Given the description of an element on the screen output the (x, y) to click on. 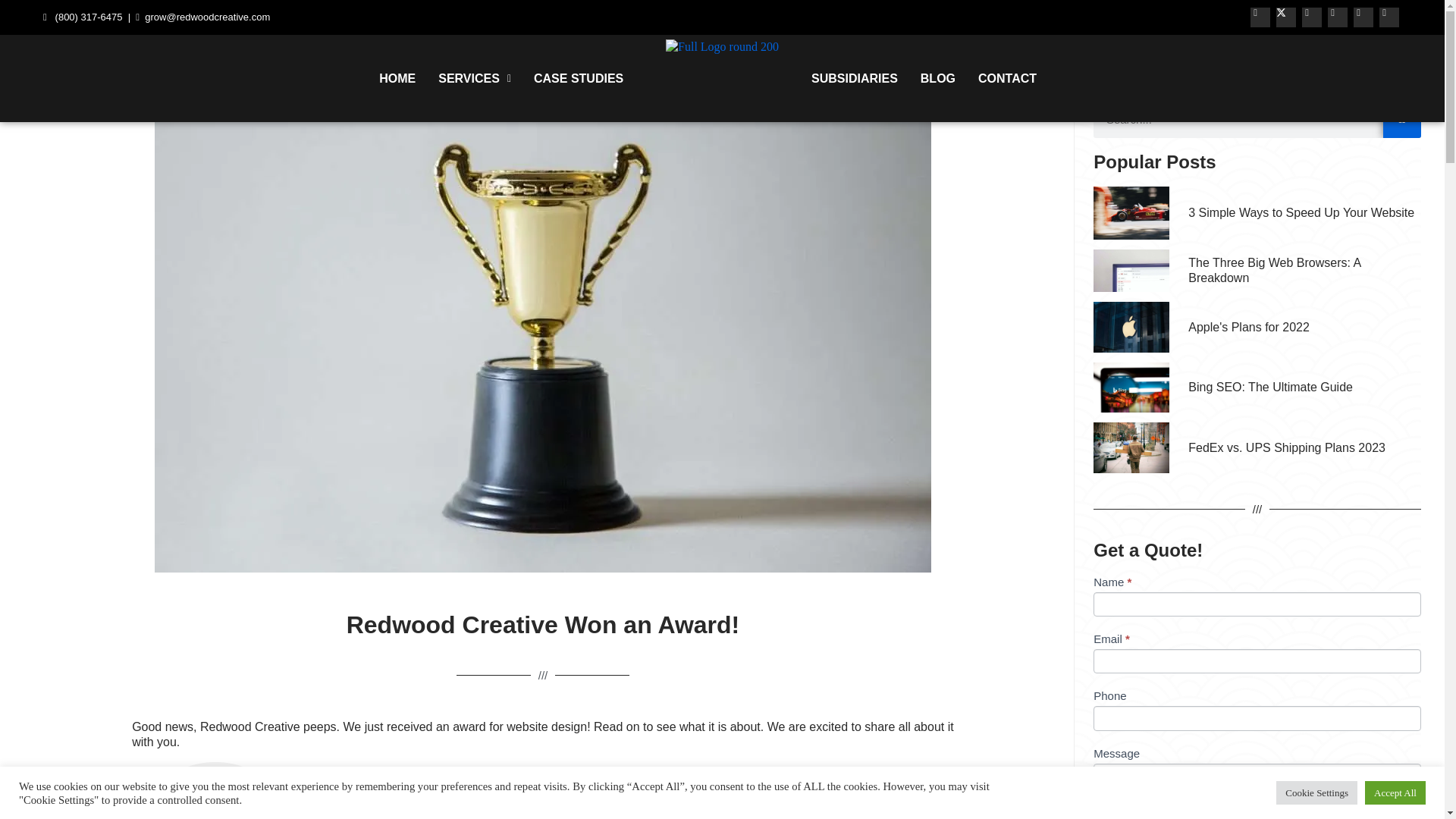
CASE STUDIES (578, 77)
SUBSIDIARIES (853, 77)
SERVICES (474, 77)
Full Logo round 200 (721, 46)
HOME (397, 77)
BLOG (937, 77)
CONTACT (1007, 77)
